Given the description of an element on the screen output the (x, y) to click on. 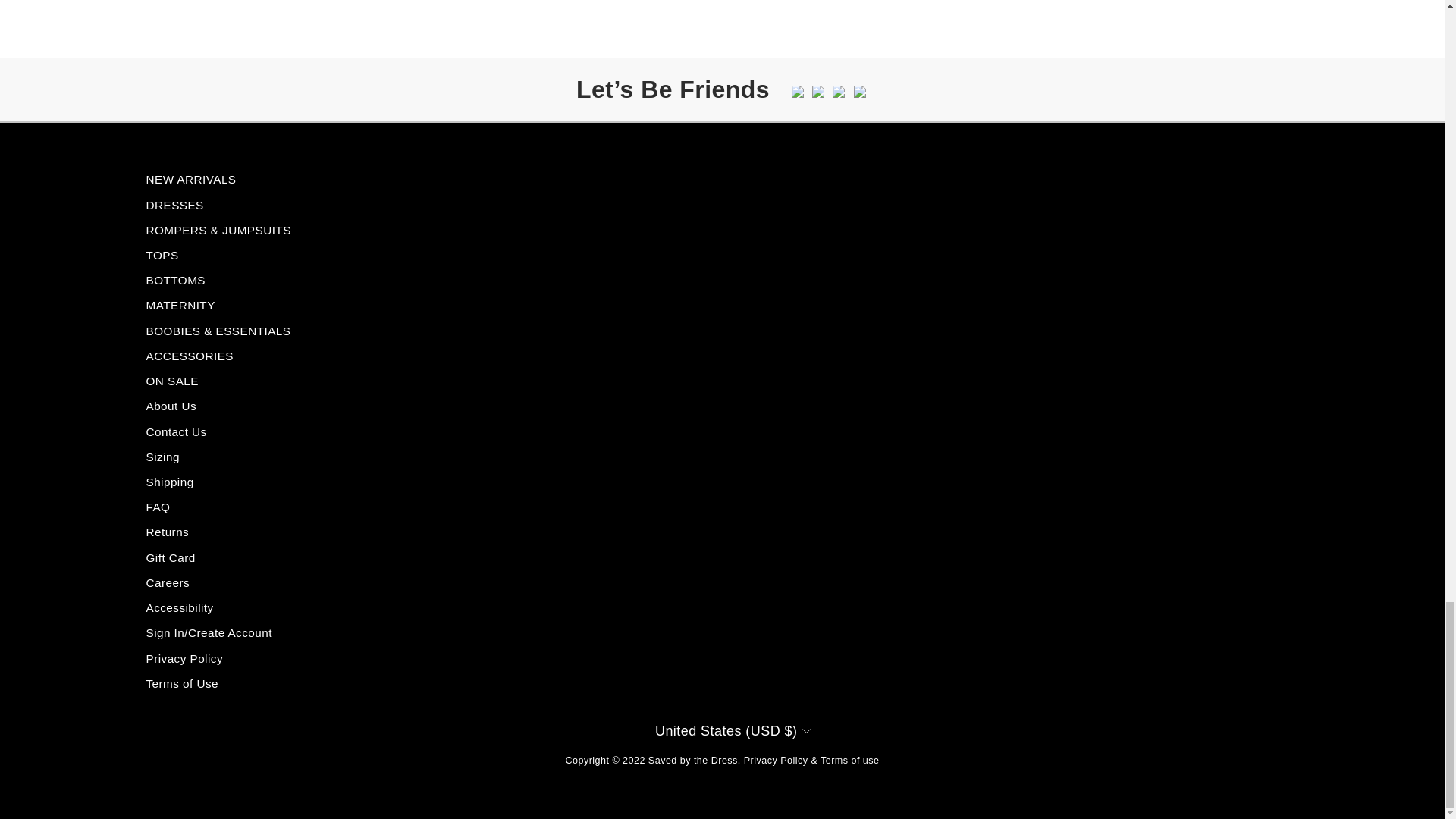
Privacy Policy (776, 760)
Terms of use (850, 760)
